Given the description of an element on the screen output the (x, y) to click on. 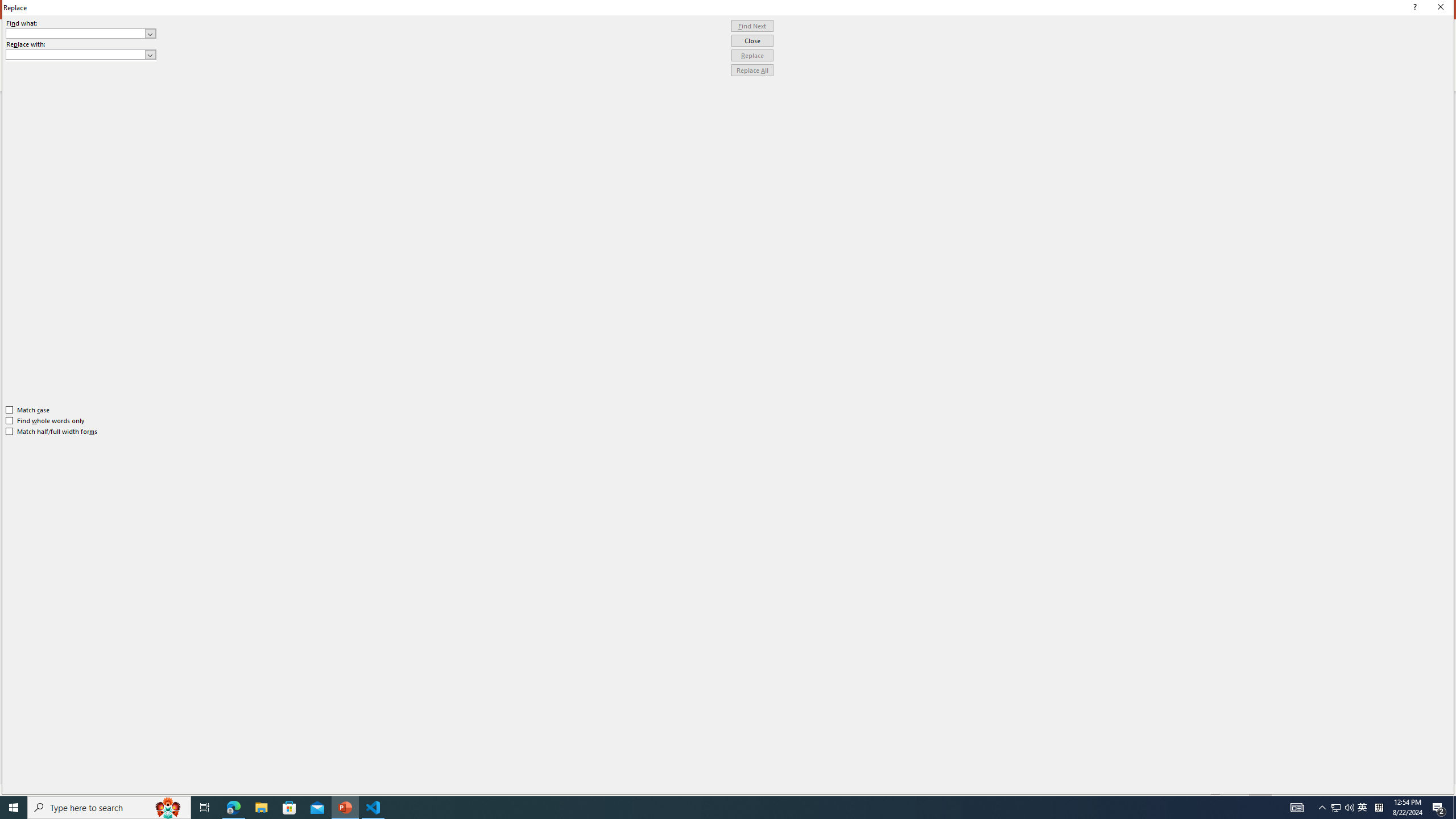
Replace All (752, 69)
Find what (75, 33)
Replace with (80, 54)
Match case (27, 409)
Find whole words only (45, 420)
Find Next (752, 25)
Replace (752, 55)
Find what (80, 33)
Replace with (75, 53)
Match half/full width forms (52, 431)
